Given the description of an element on the screen output the (x, y) to click on. 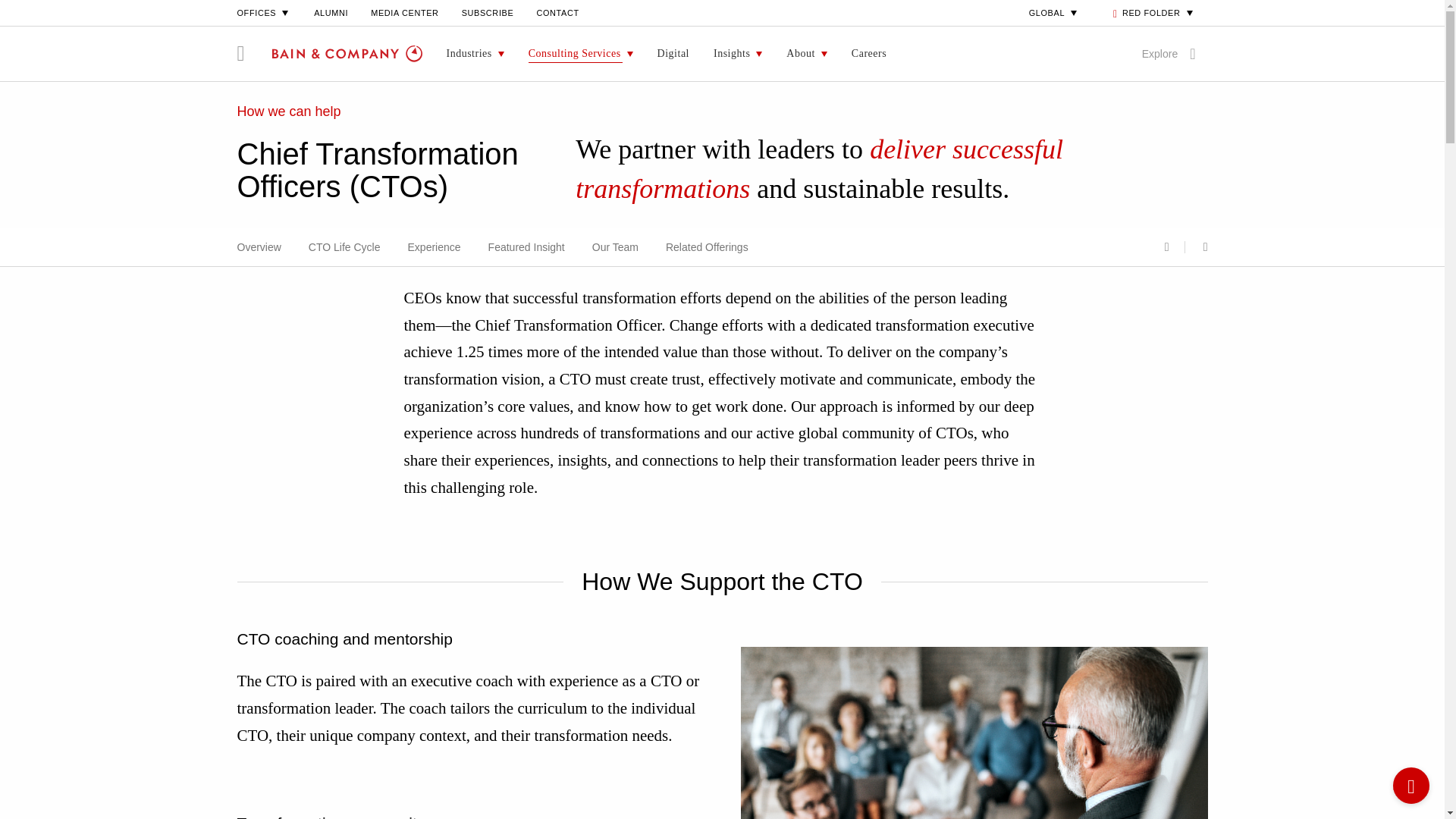
OFFICES (263, 12)
